Given the description of an element on the screen output the (x, y) to click on. 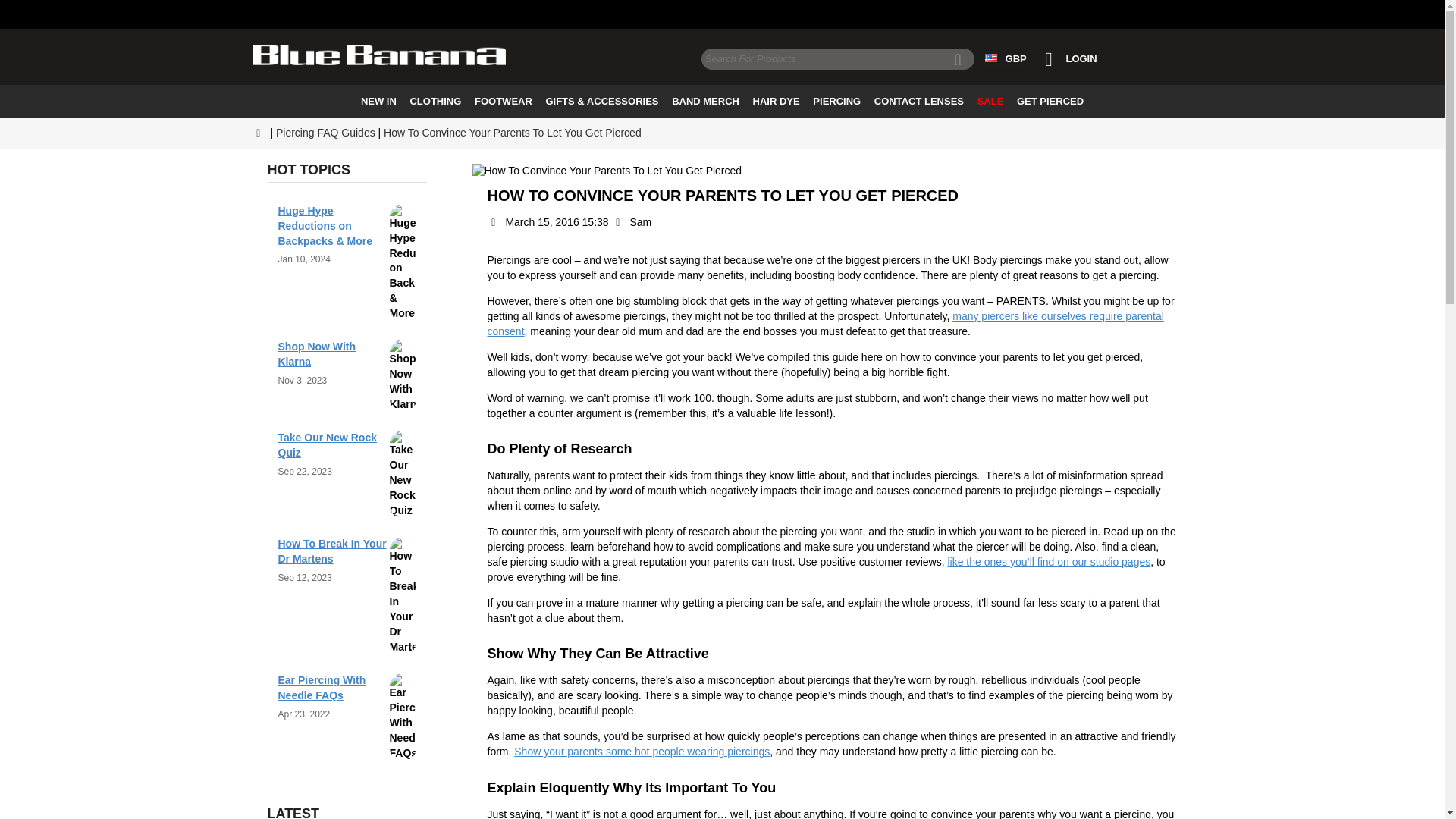
PIERCING (837, 101)
Customer reviews powered by Trustpilot (721, 16)
Piercing FAQ Guides (325, 133)
GET PIERCED (1050, 101)
FOOTWEAR (502, 101)
SALE (990, 101)
Show your parents some hot people wearing piercings (641, 751)
Ear Piercing With Needle FAQs (321, 687)
Shop Now With Klarna (316, 353)
NEW IN (378, 101)
CLOTHING (434, 101)
How To Break In Your Dr Martens (331, 551)
LOGIN (1066, 59)
CONTACT LENSES (919, 101)
many piercers like ourselves require parental consent (824, 323)
